Given the description of an element on the screen output the (x, y) to click on. 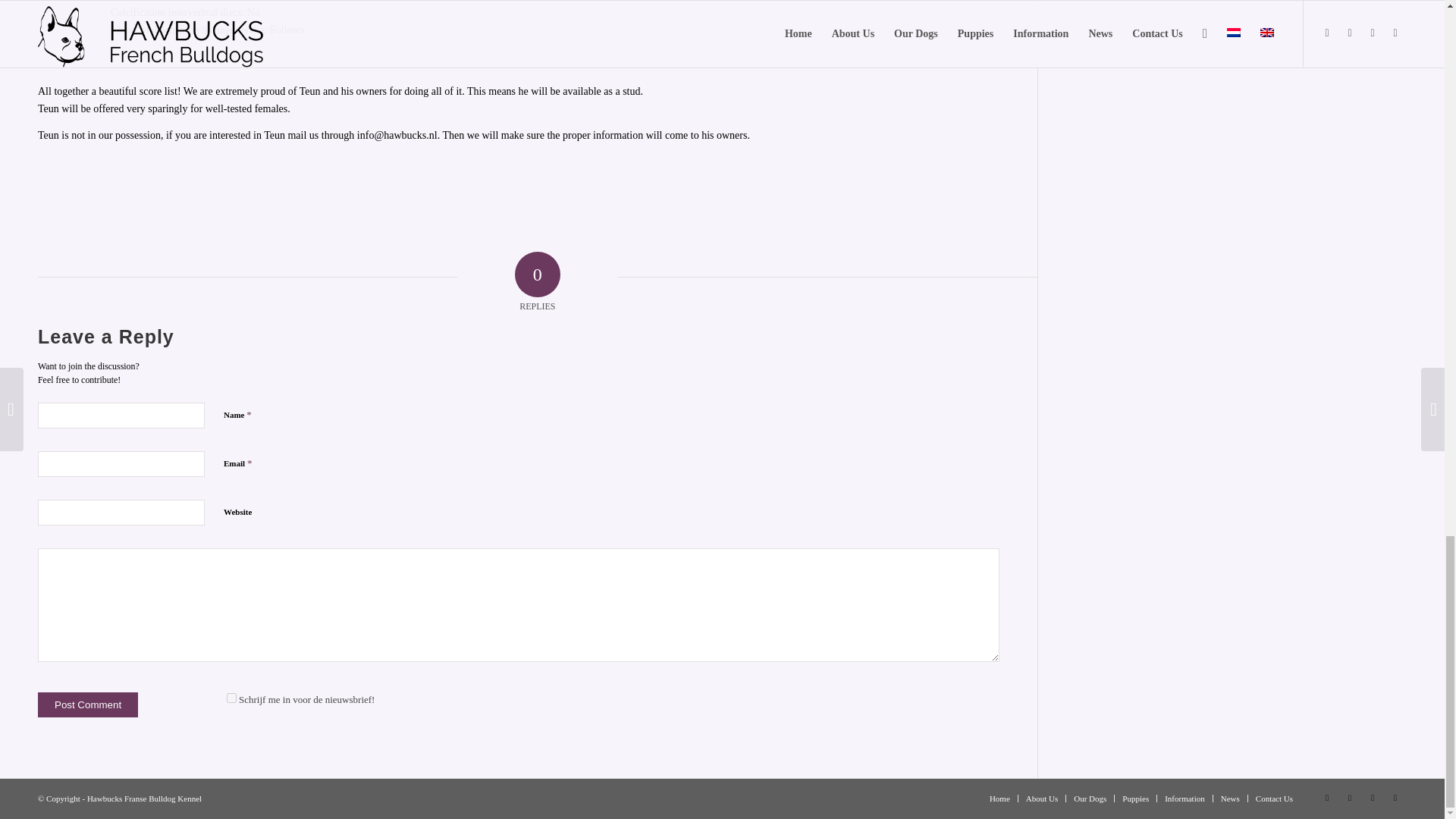
1 (231, 697)
Post Comment (87, 704)
